Given the description of an element on the screen output the (x, y) to click on. 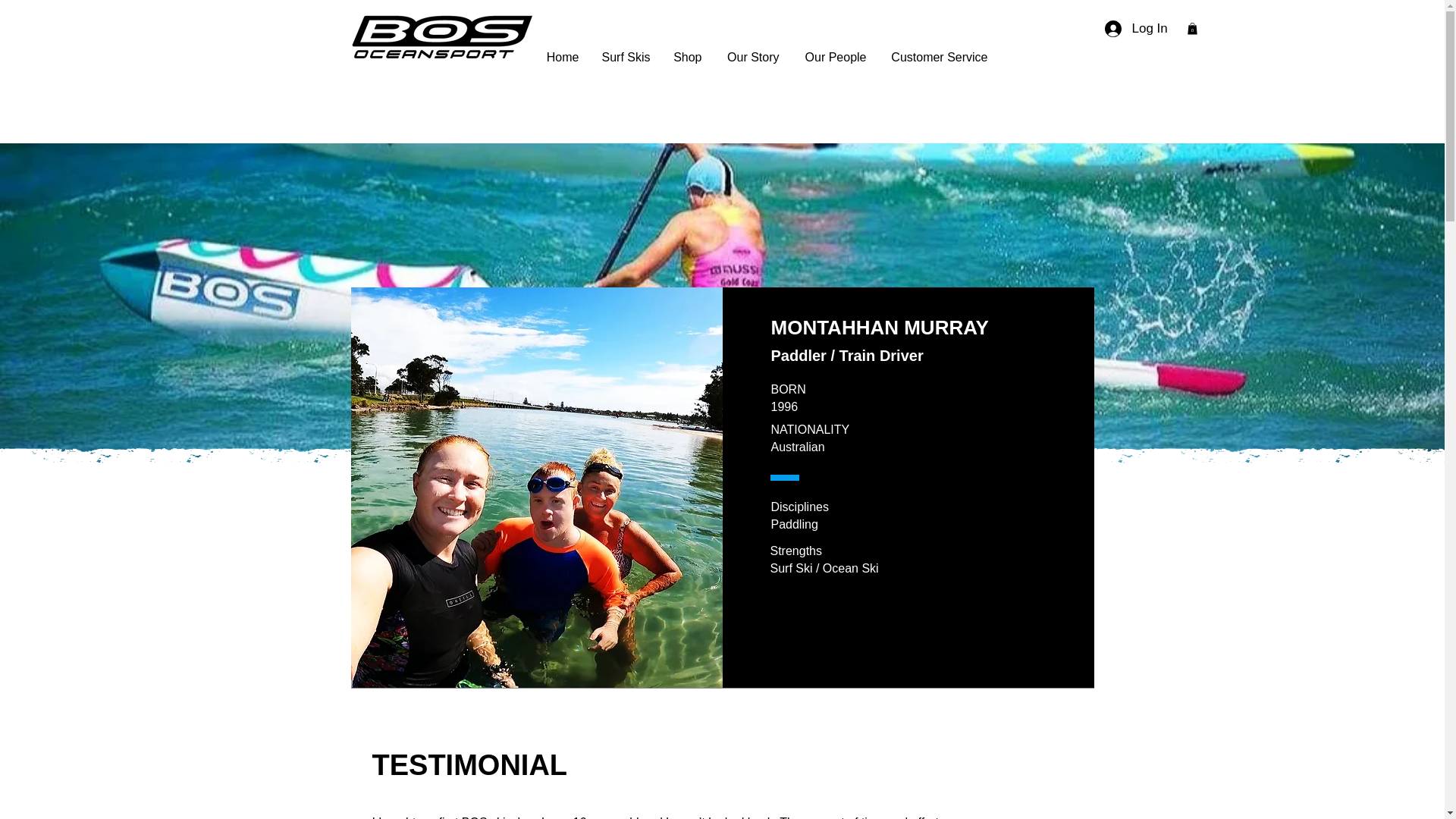
Home (562, 57)
Log In (1123, 28)
Shop (687, 57)
Customer Service (937, 57)
Surf Skis (625, 57)
Our Story (751, 57)
Our People (833, 57)
